Given the description of an element on the screen output the (x, y) to click on. 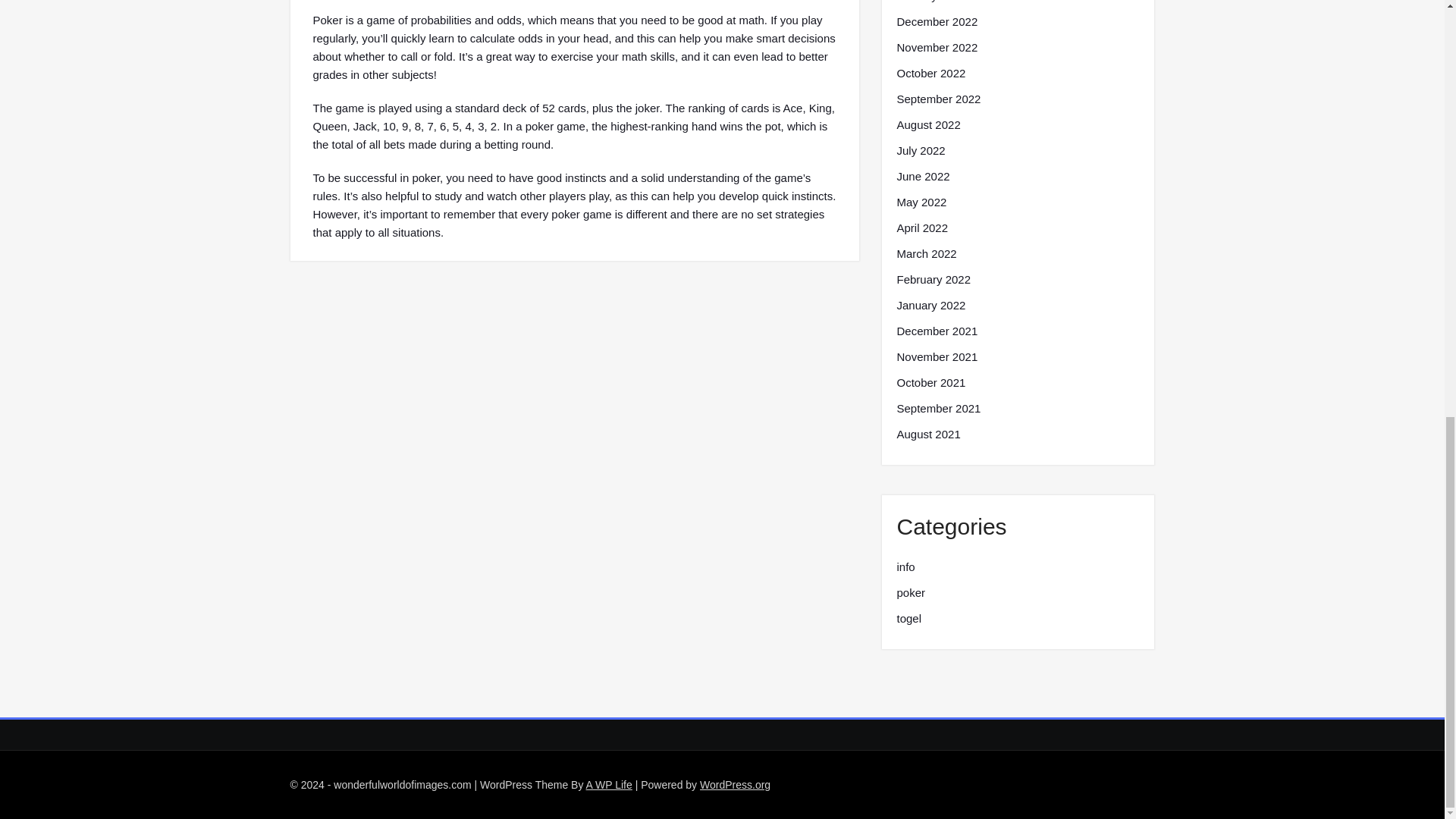
November 2022 (936, 47)
October 2022 (930, 73)
May 2022 (921, 202)
September 2022 (937, 99)
December 2022 (936, 22)
June 2022 (922, 176)
August 2022 (927, 125)
April 2022 (921, 228)
July 2022 (920, 150)
January 2023 (930, 2)
March 2022 (926, 253)
